Given the description of an element on the screen output the (x, y) to click on. 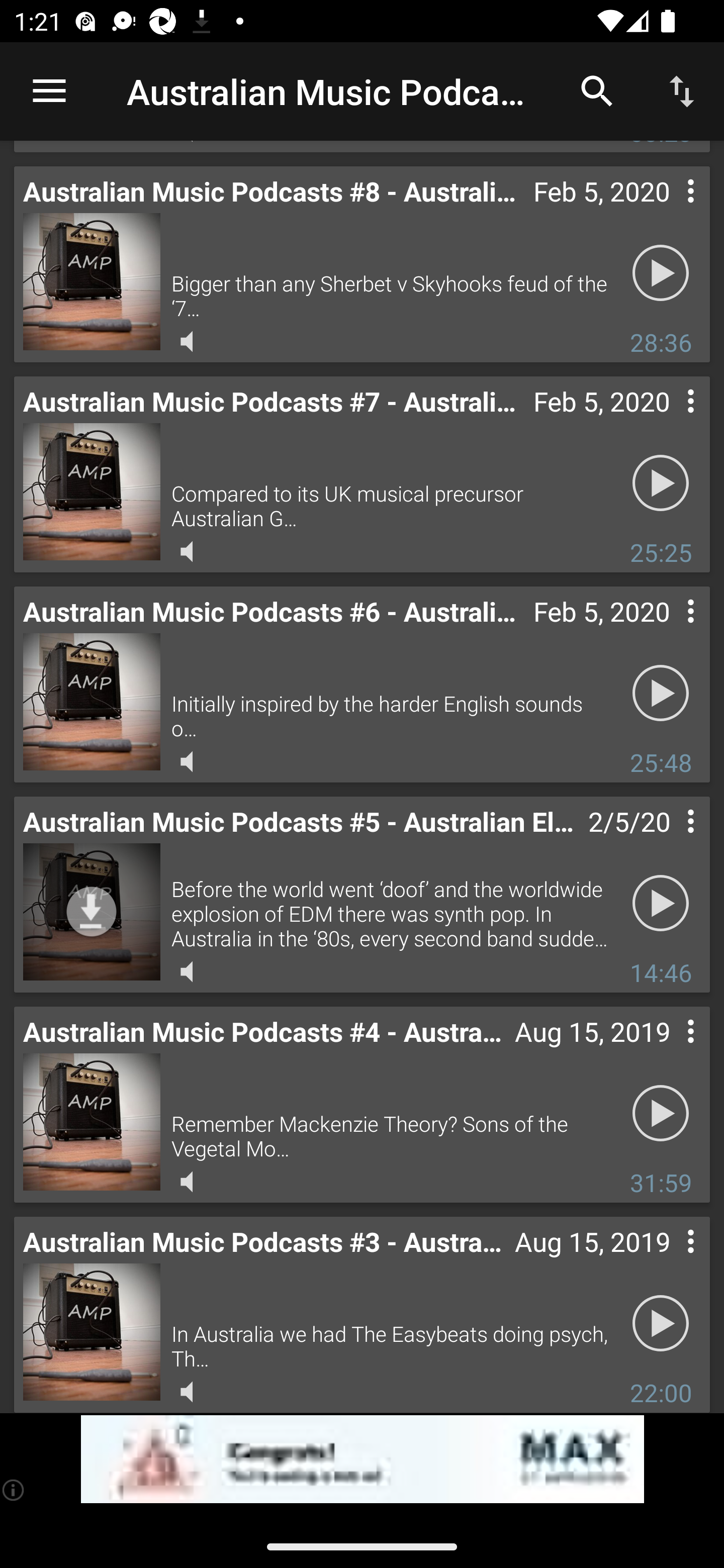
Open navigation sidebar (49, 91)
Search (597, 90)
Sort (681, 90)
Contextual menu (668, 210)
Play (660, 272)
Contextual menu (668, 420)
Play (660, 482)
Contextual menu (668, 630)
Play (660, 692)
Contextual menu (668, 840)
Play (660, 902)
Contextual menu (668, 1050)
Play (660, 1112)
Contextual menu (668, 1261)
Play (660, 1322)
app-monetization (362, 1459)
(i) (14, 1489)
